Given the description of an element on the screen output the (x, y) to click on. 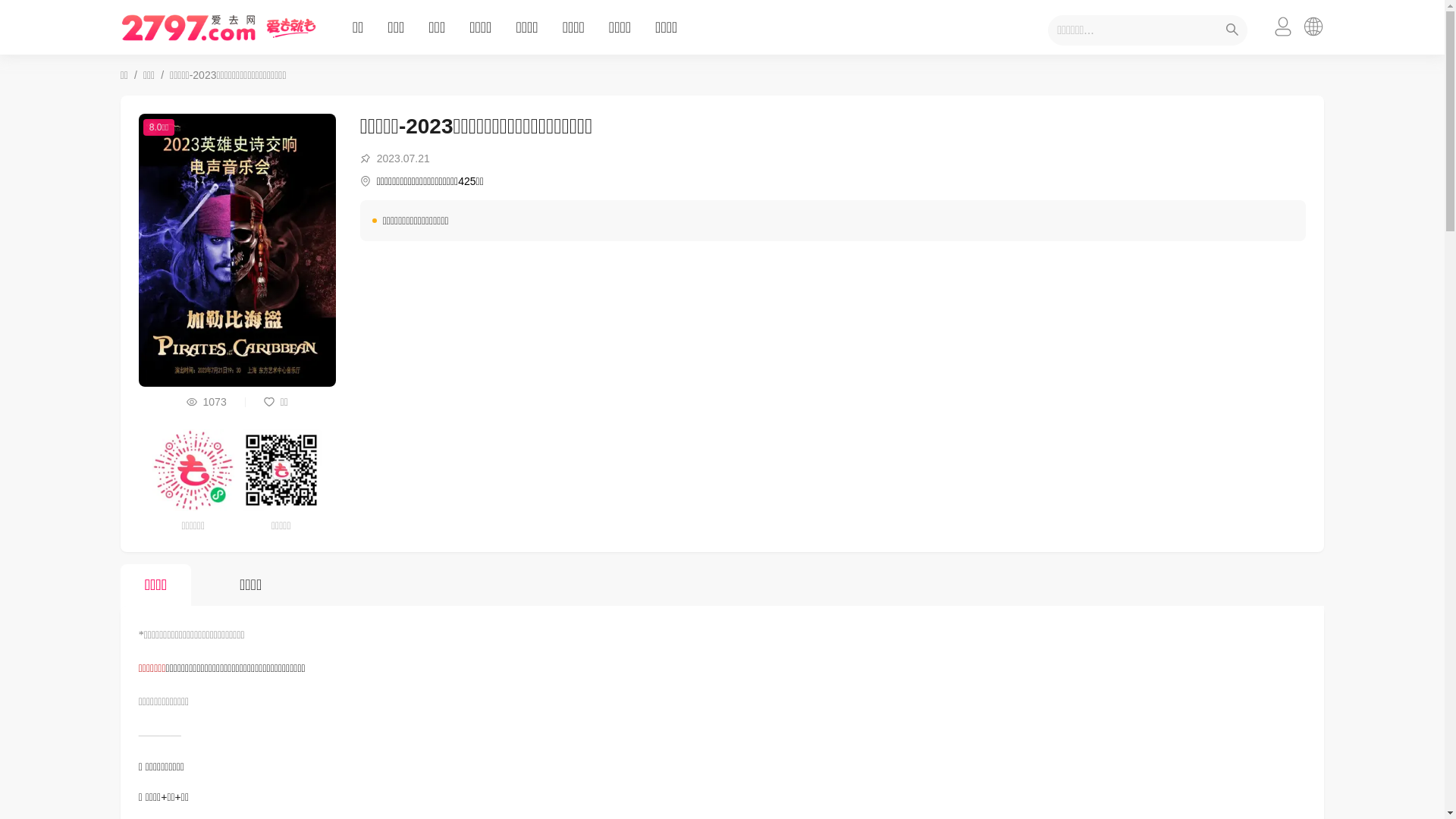
1073 Element type: text (206, 401)
